Given the description of an element on the screen output the (x, y) to click on. 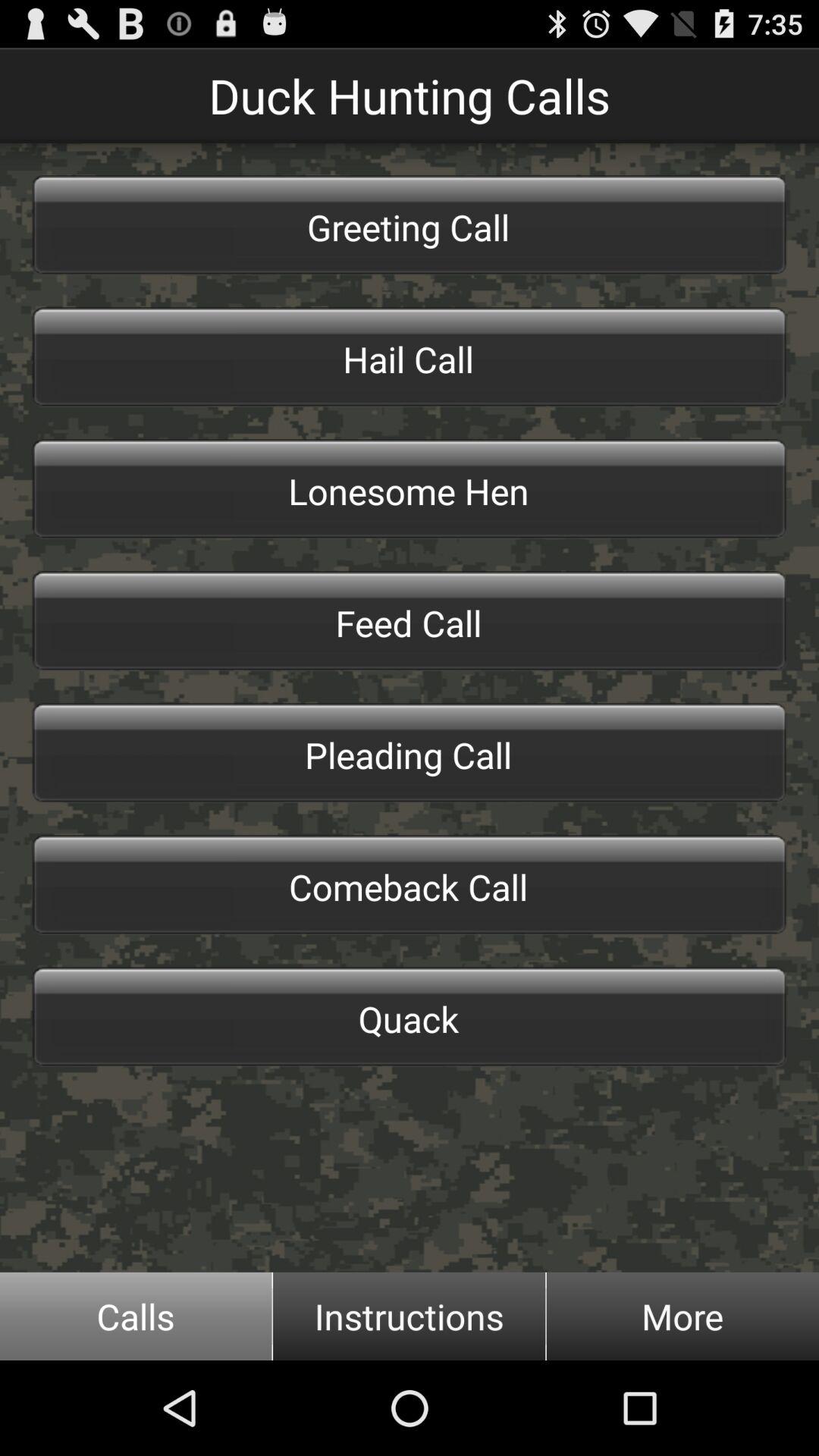
open icon above the comeback call icon (409, 752)
